Given the description of an element on the screen output the (x, y) to click on. 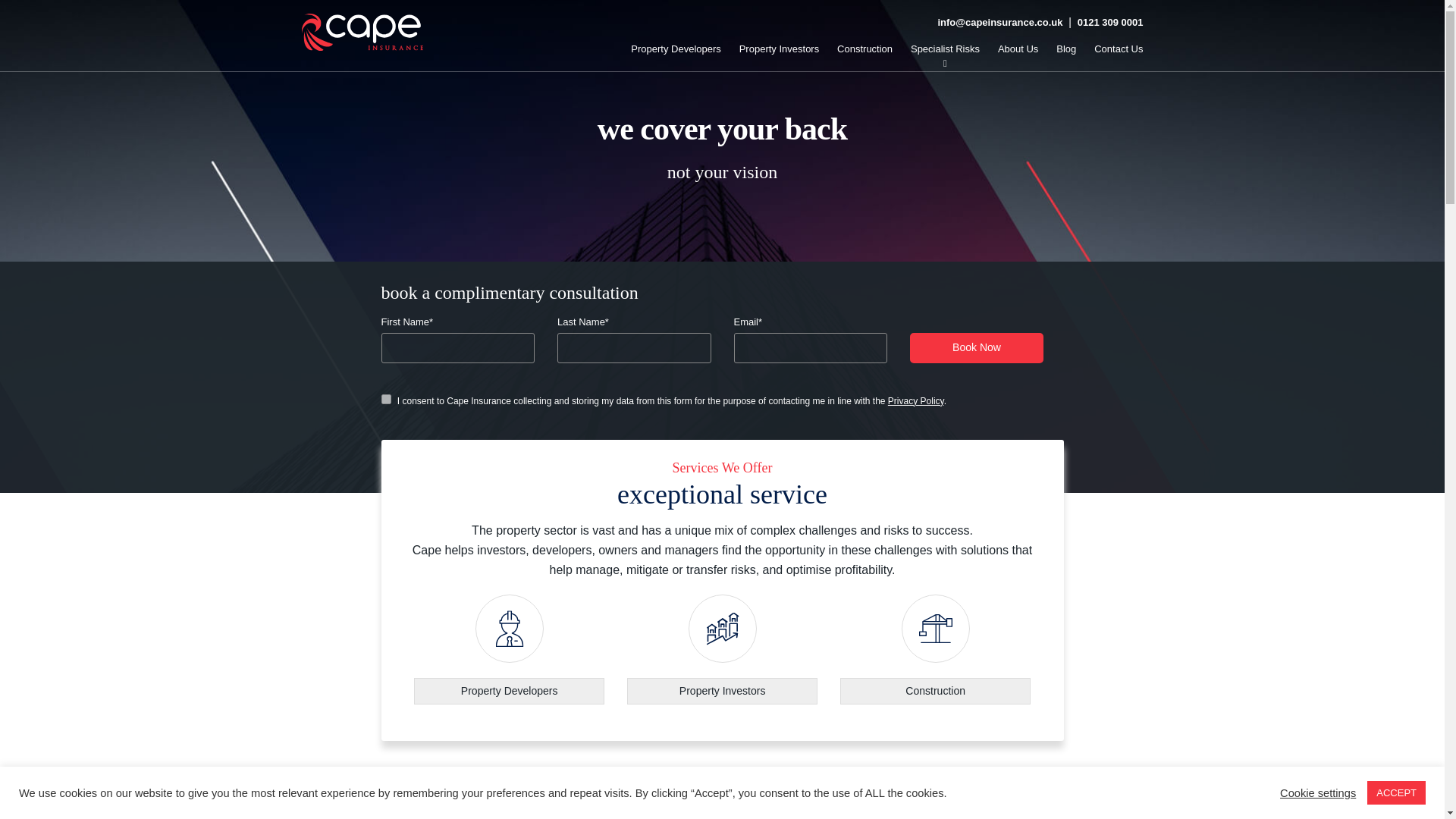
Property Developers (675, 49)
Property Investors (779, 49)
Specialist Risks (945, 49)
Property Investors (721, 649)
Construction (935, 649)
About Us (1017, 49)
Construction (864, 49)
Contact Us (1118, 49)
Book Now (976, 347)
1 (385, 398)
0121 309 0001 (1109, 21)
Privacy Policy (915, 400)
Property Developers (508, 649)
Blog (1066, 49)
Book Now (976, 347)
